Given the description of an element on the screen output the (x, y) to click on. 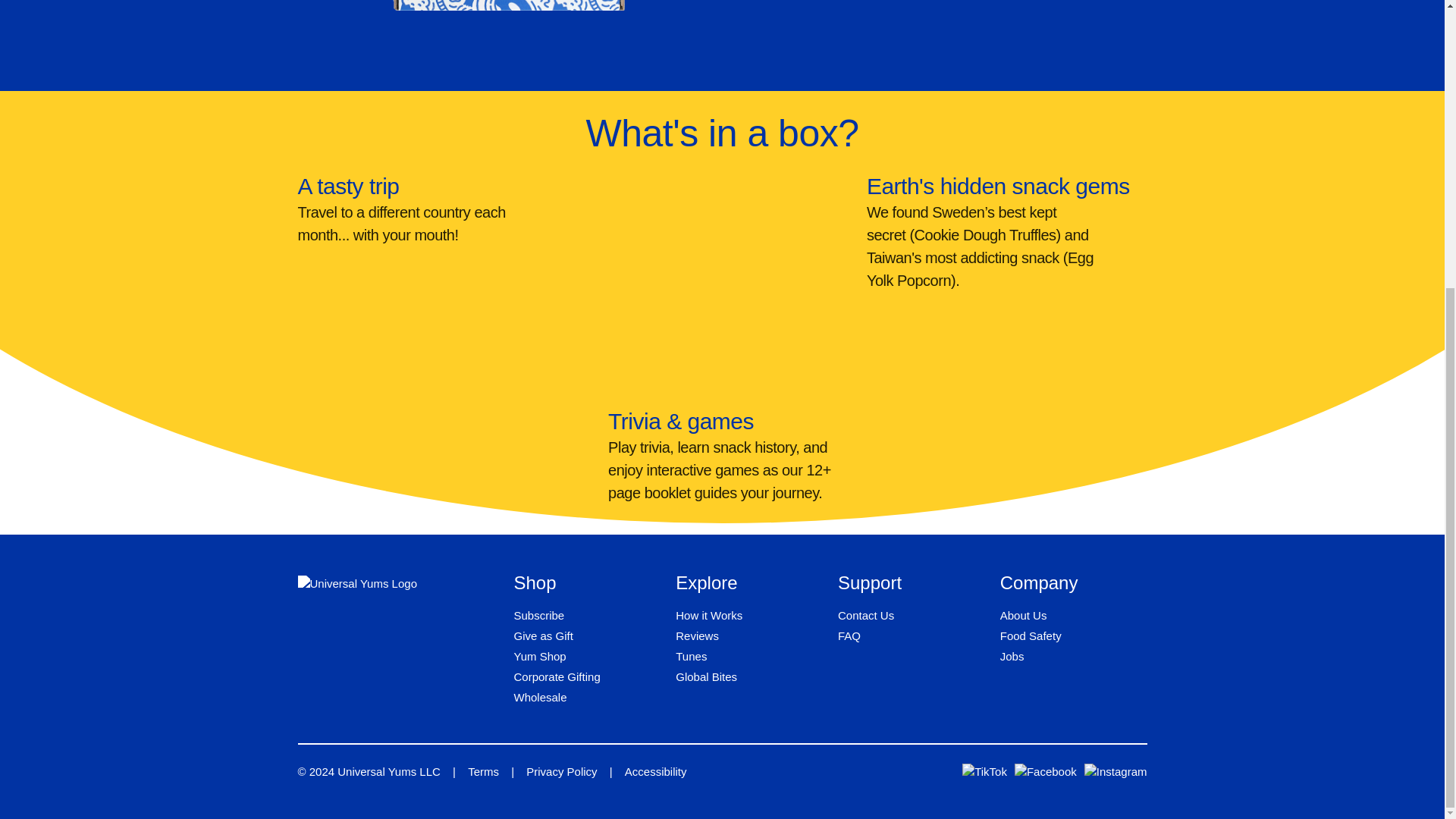
Give as Gift (543, 635)
Corporate Gifting (556, 676)
Accessibility (655, 771)
Food Safety (1030, 635)
About Us (1023, 615)
Tunes (690, 656)
Universal Yums LLC (389, 771)
FAQ (849, 635)
Jobs (1012, 656)
Privacy Policy (560, 771)
